Given the description of an element on the screen output the (x, y) to click on. 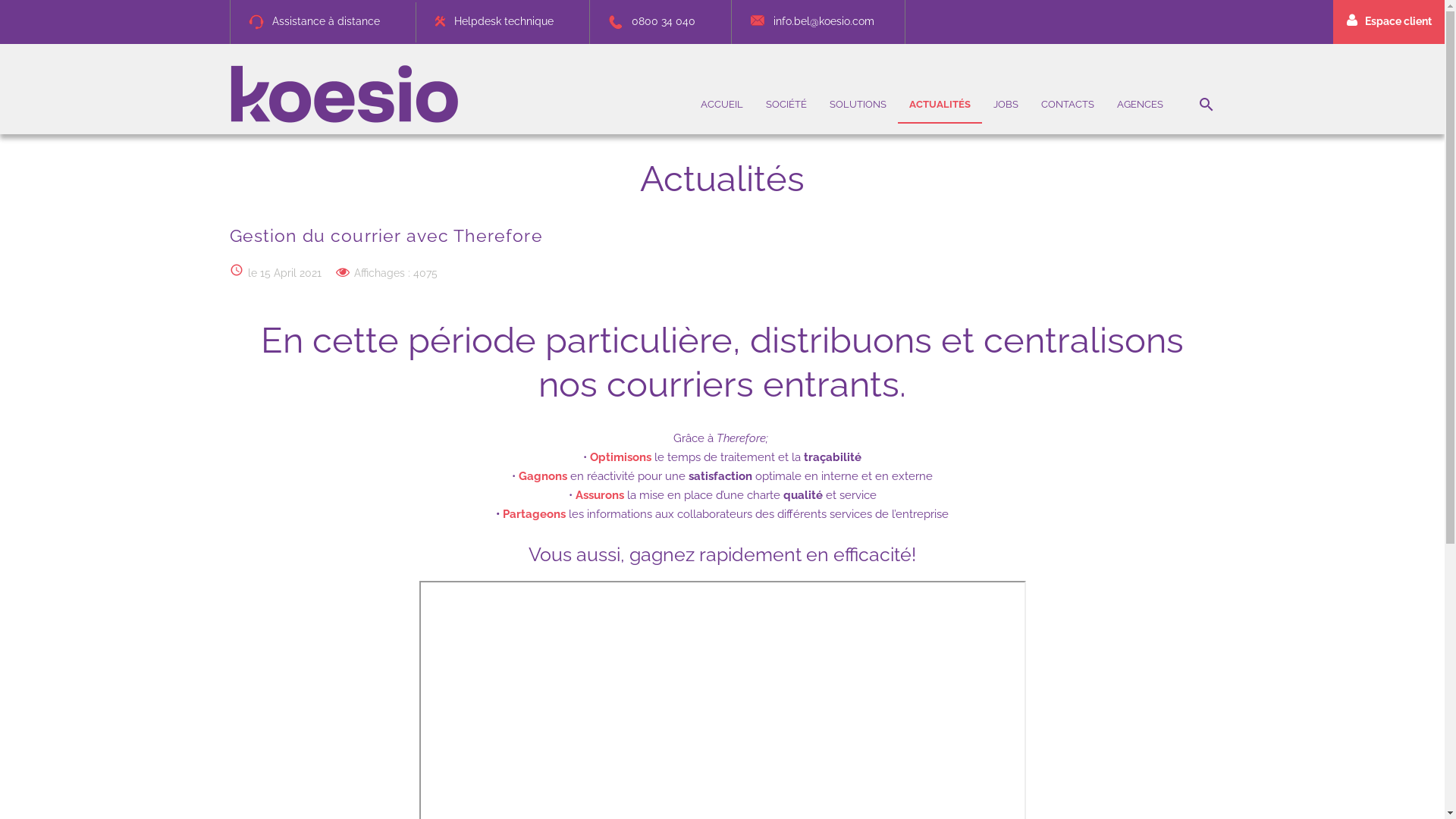
SEARCH Element type: text (1205, 104)
SOLUTIONS Element type: text (857, 104)
info.bel@koesio.com Element type: text (807, 21)
AGENCES Element type: text (1139, 104)
Connexion Element type: text (1237, 260)
CONTACTS Element type: text (1067, 104)
Helpdesk technique Element type: text (489, 21)
JOBS Element type: text (1005, 104)
ACCUEIL Element type: text (720, 104)
0800 34 040 Element type: text (646, 21)
